Given the description of an element on the screen output the (x, y) to click on. 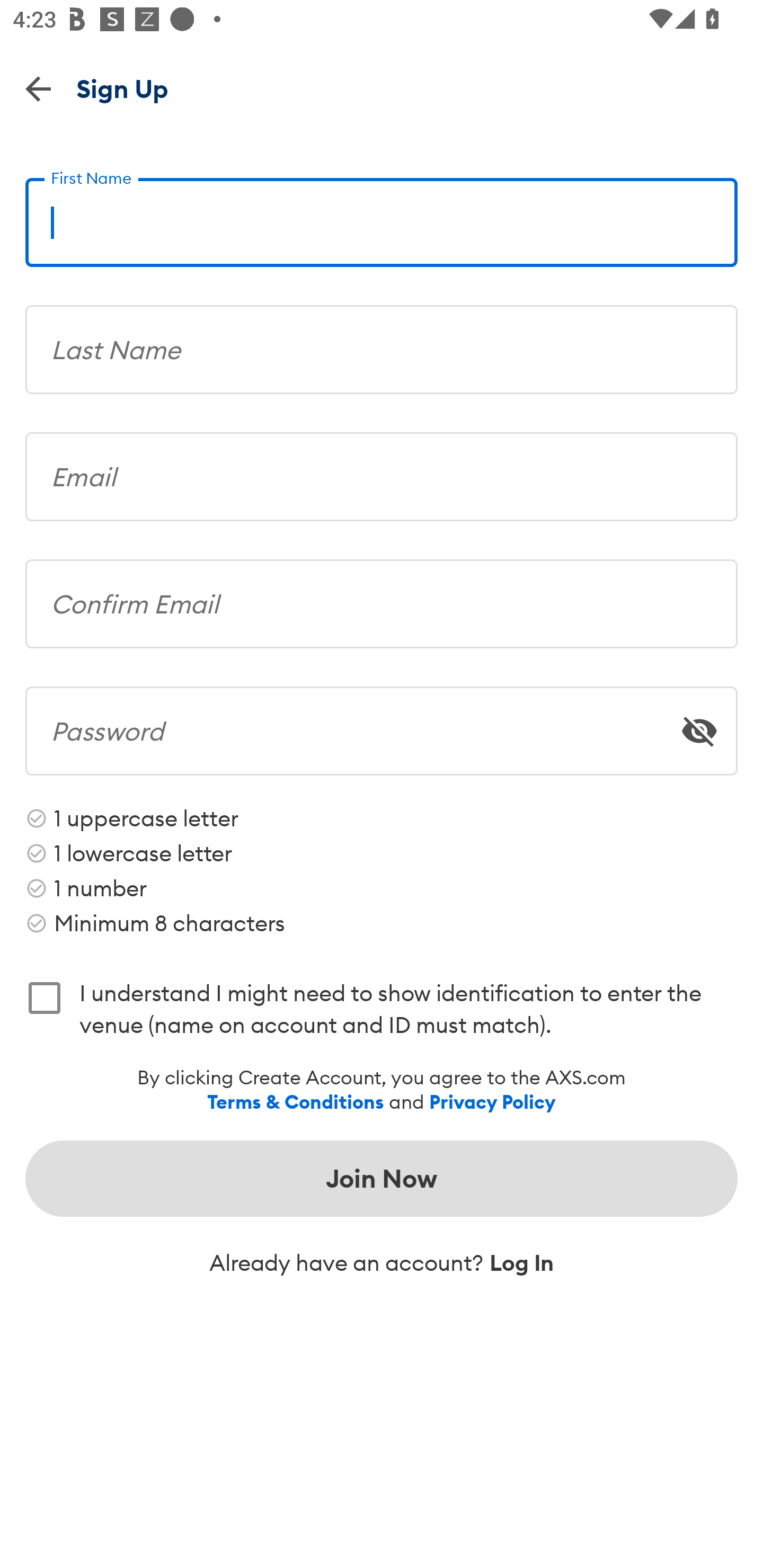
Back (38, 88)
First Name (381, 215)
Last Name (381, 342)
Email (381, 470)
Confirm Email (381, 598)
Password (381, 725)
Terms & Conditions (295, 1101)
Privacy Policy (491, 1101)
Join Now (381, 1177)
Log In (521, 1262)
